Given the description of an element on the screen output the (x, y) to click on. 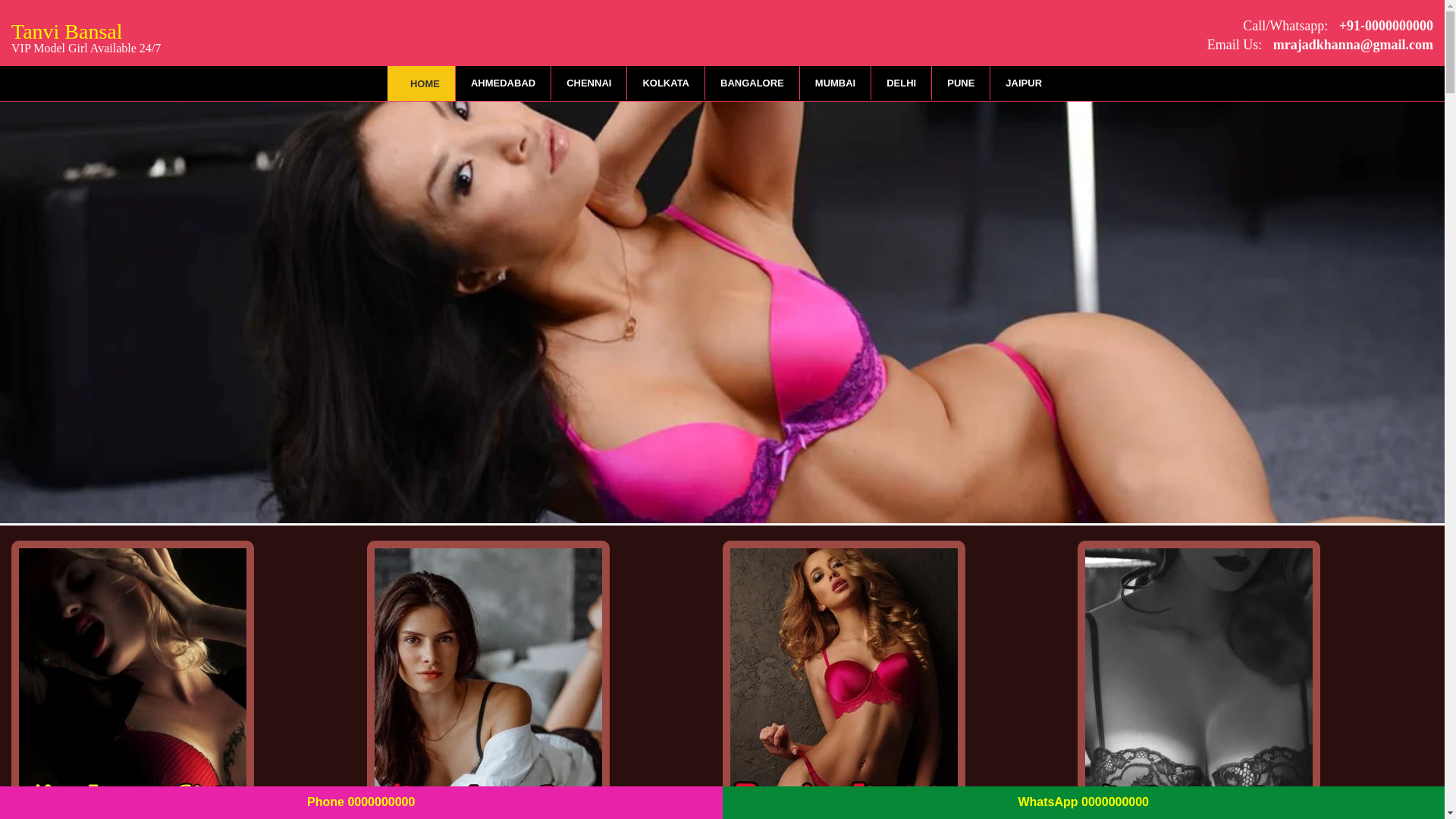
Tanvi Bansal (85, 35)
MUMBAI (834, 82)
PUNE (960, 82)
KOLKATA (665, 82)
Hot Girl in Sanand (488, 679)
Models Escorts Sanand (132, 679)
Call Now (1383, 25)
JAIPUR (1023, 82)
Verified Escorts Sanand (1198, 679)
DELHI (900, 82)
CHENNAI (588, 82)
HOME (420, 83)
AHMEDABAD (502, 82)
BANGALORE (751, 82)
Premium Escorts Sanand (842, 679)
